Given the description of an element on the screen output the (x, y) to click on. 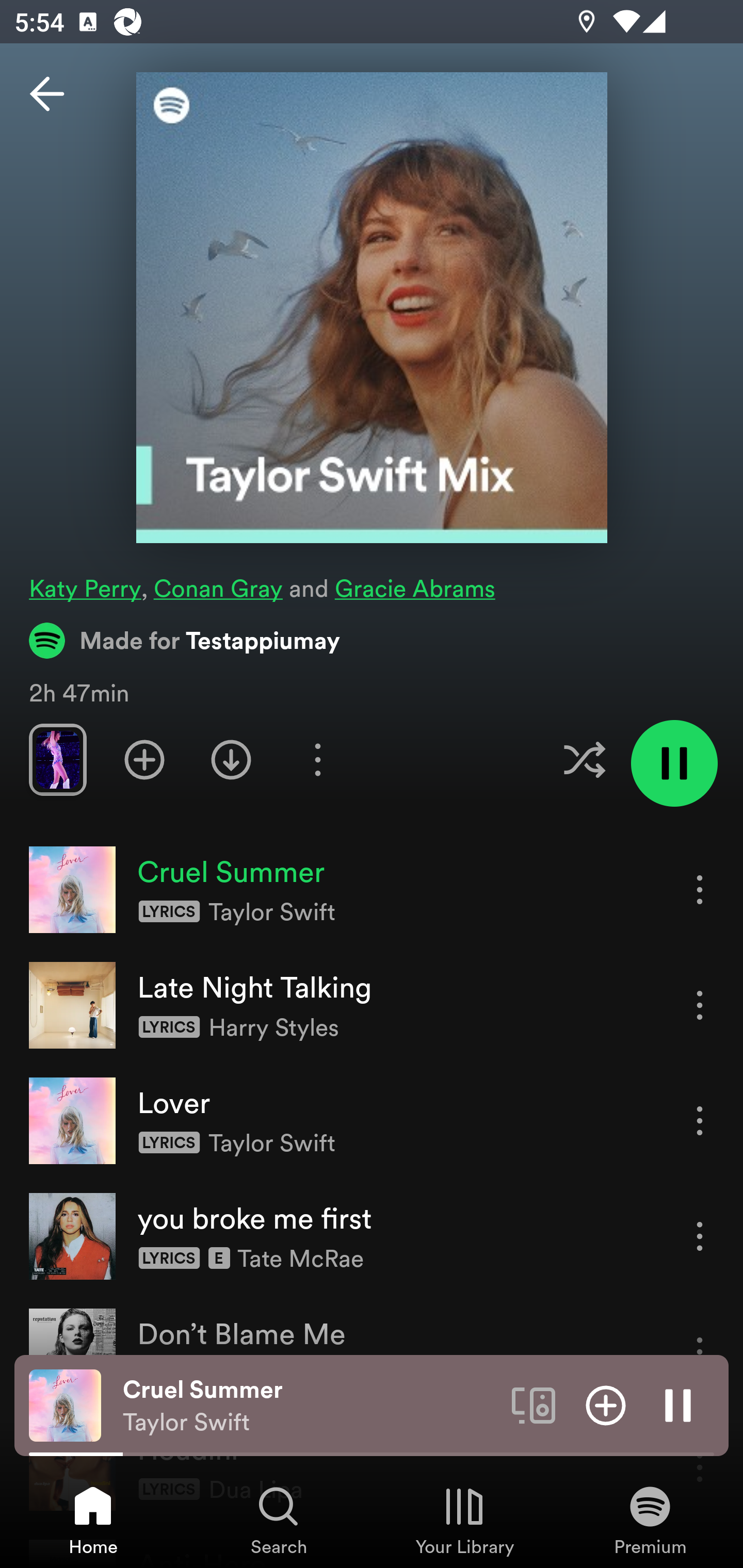
Back (46, 93)
Made for Testappiumay (184, 640)
Add playlist to Your Library (144, 759)
Download (230, 759)
More options for playlist Taylor Swift Mix (317, 759)
Enable shuffle for this playlist (583, 759)
Pause playlist (674, 763)
More options for song Cruel Summer (699, 889)
More options for song Late Night Talking (699, 1004)
More options for song Lover (699, 1120)
More options for song you broke me first (699, 1236)
Cruel Summer Taylor Swift (309, 1405)
The cover art of the currently playing track (64, 1404)
Connect to a device. Opens the devices menu (533, 1404)
Add item (605, 1404)
Pause (677, 1404)
Home, Tab 1 of 4 Home Home (92, 1519)
Search, Tab 2 of 4 Search Search (278, 1519)
Your Library, Tab 3 of 4 Your Library Your Library (464, 1519)
Premium, Tab 4 of 4 Premium Premium (650, 1519)
